Given the description of an element on the screen output the (x, y) to click on. 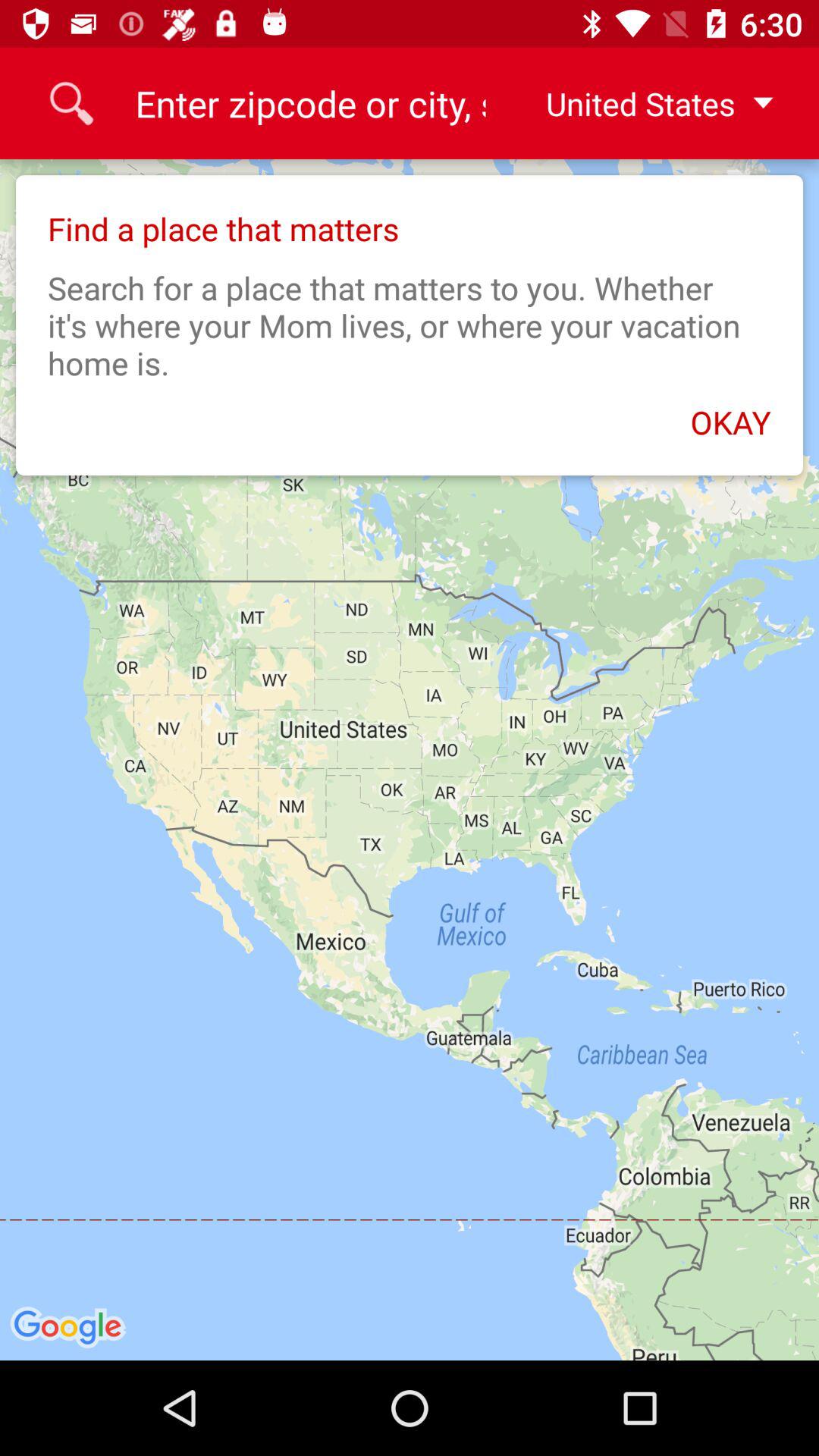
turn on the 9 (309, 103)
